Given the description of an element on the screen output the (x, y) to click on. 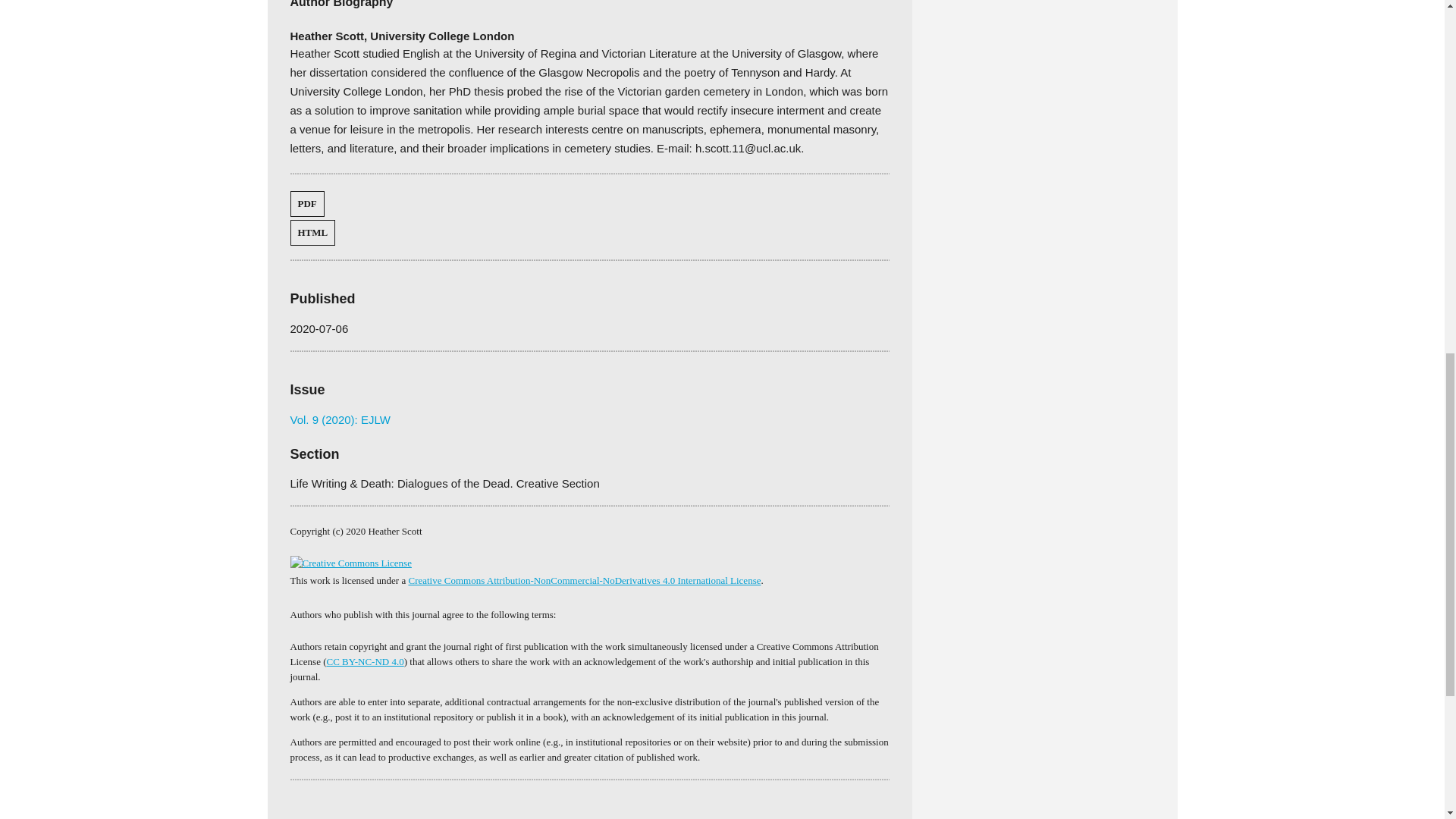
PDF (306, 203)
CC BY-NC-ND 4.0 (365, 661)
HTML (311, 232)
